Given the description of an element on the screen output the (x, y) to click on. 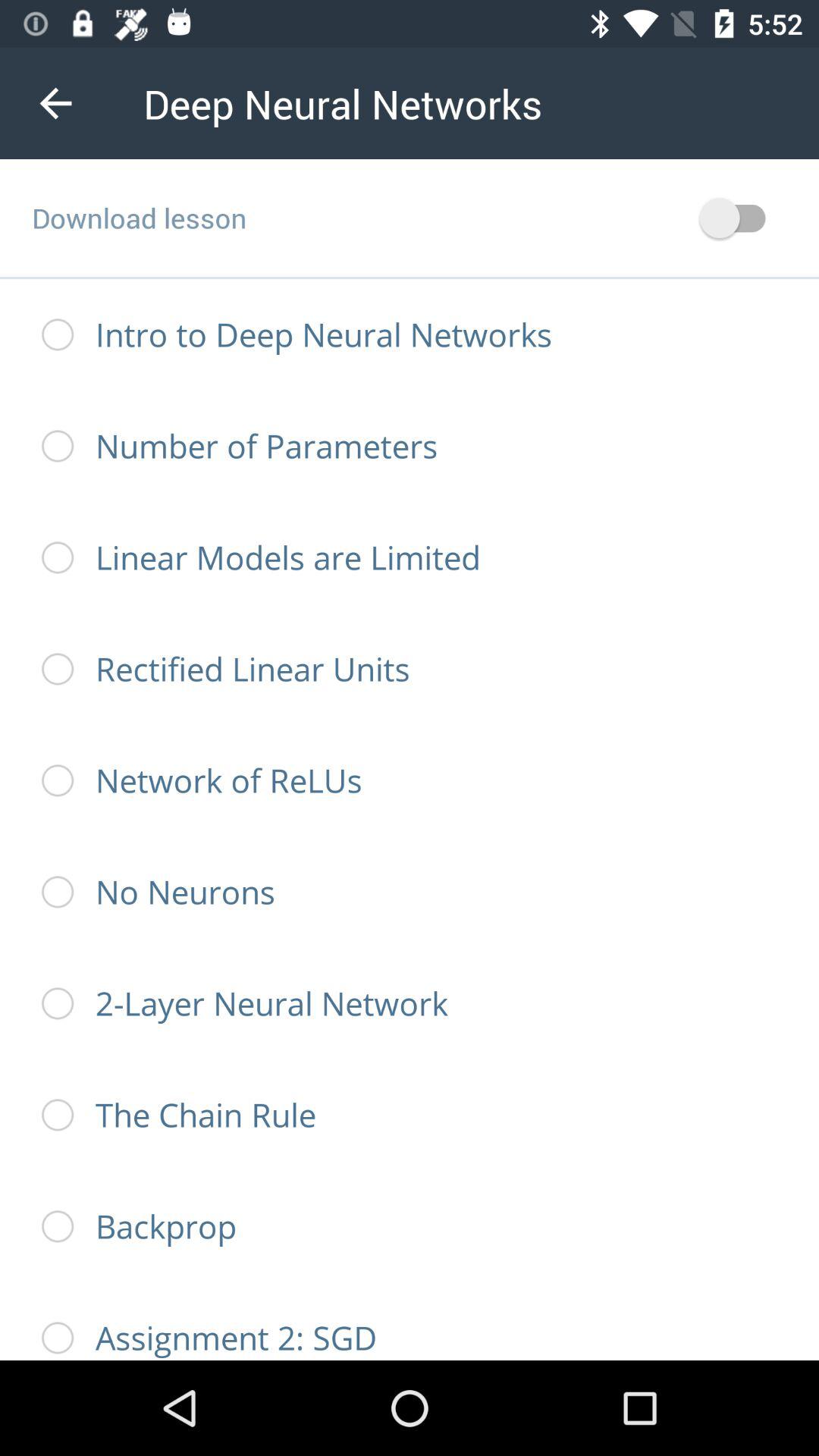
press the item next to the download lesson item (739, 218)
